Given the description of an element on the screen output the (x, y) to click on. 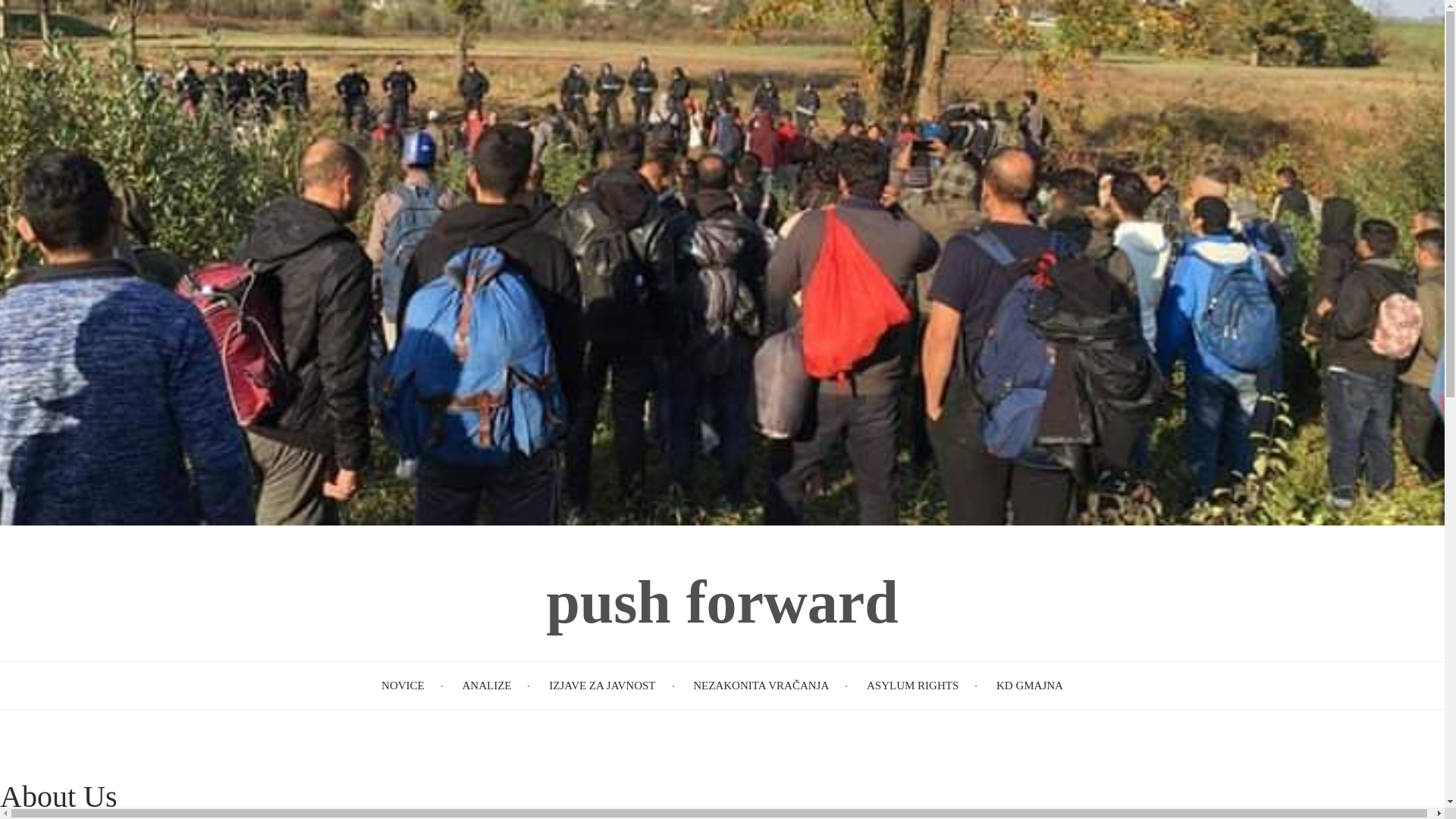
KD GMAJNA (1029, 685)
IZJAVE ZA JAVNOST (601, 685)
push forward (722, 602)
NOVICE (403, 685)
Domov (722, 602)
ANALIZE (486, 685)
ASYLUM RIGHTS (911, 685)
